Given the description of an element on the screen output the (x, y) to click on. 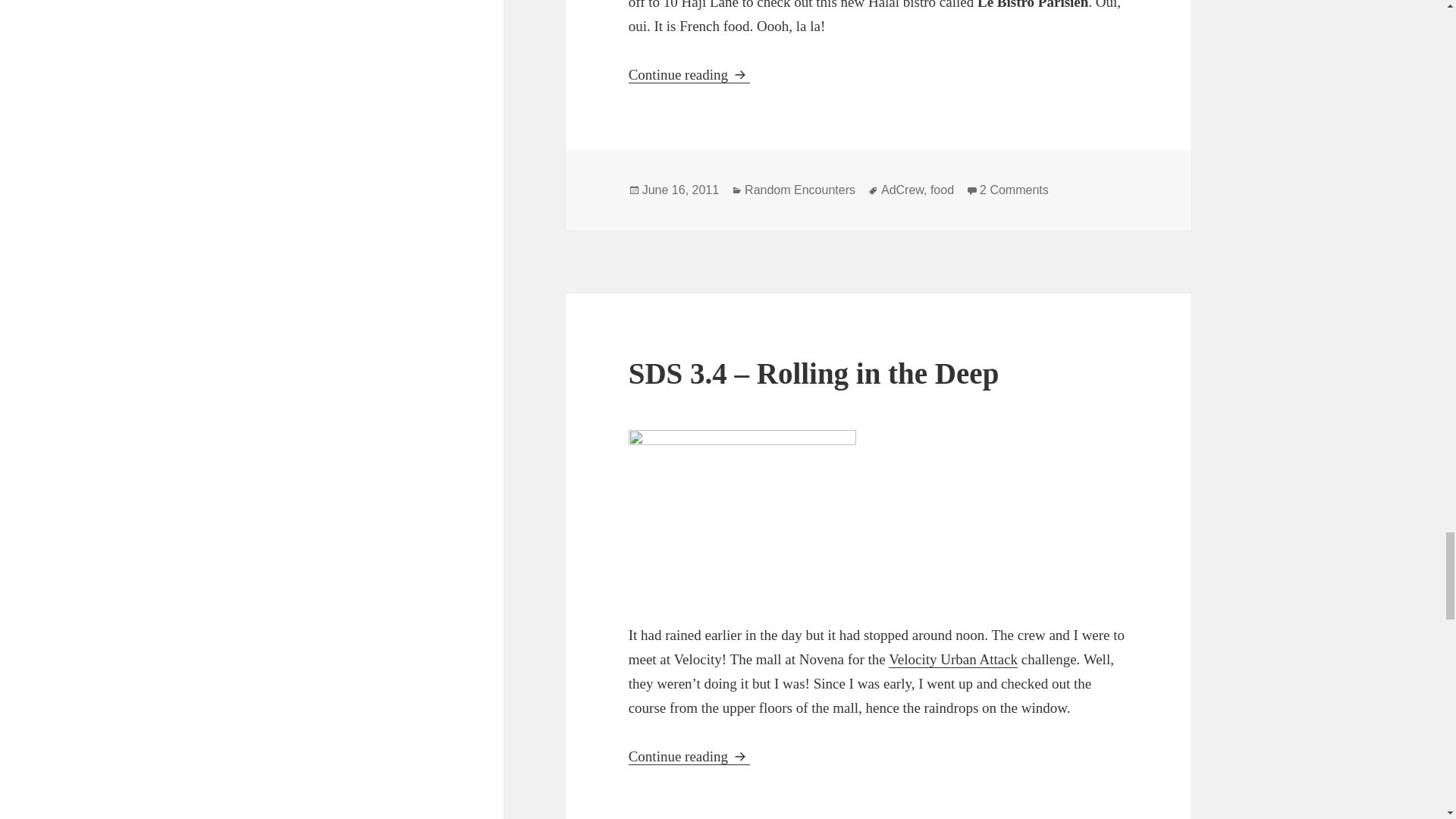
From above! (742, 513)
